Given the description of an element on the screen output the (x, y) to click on. 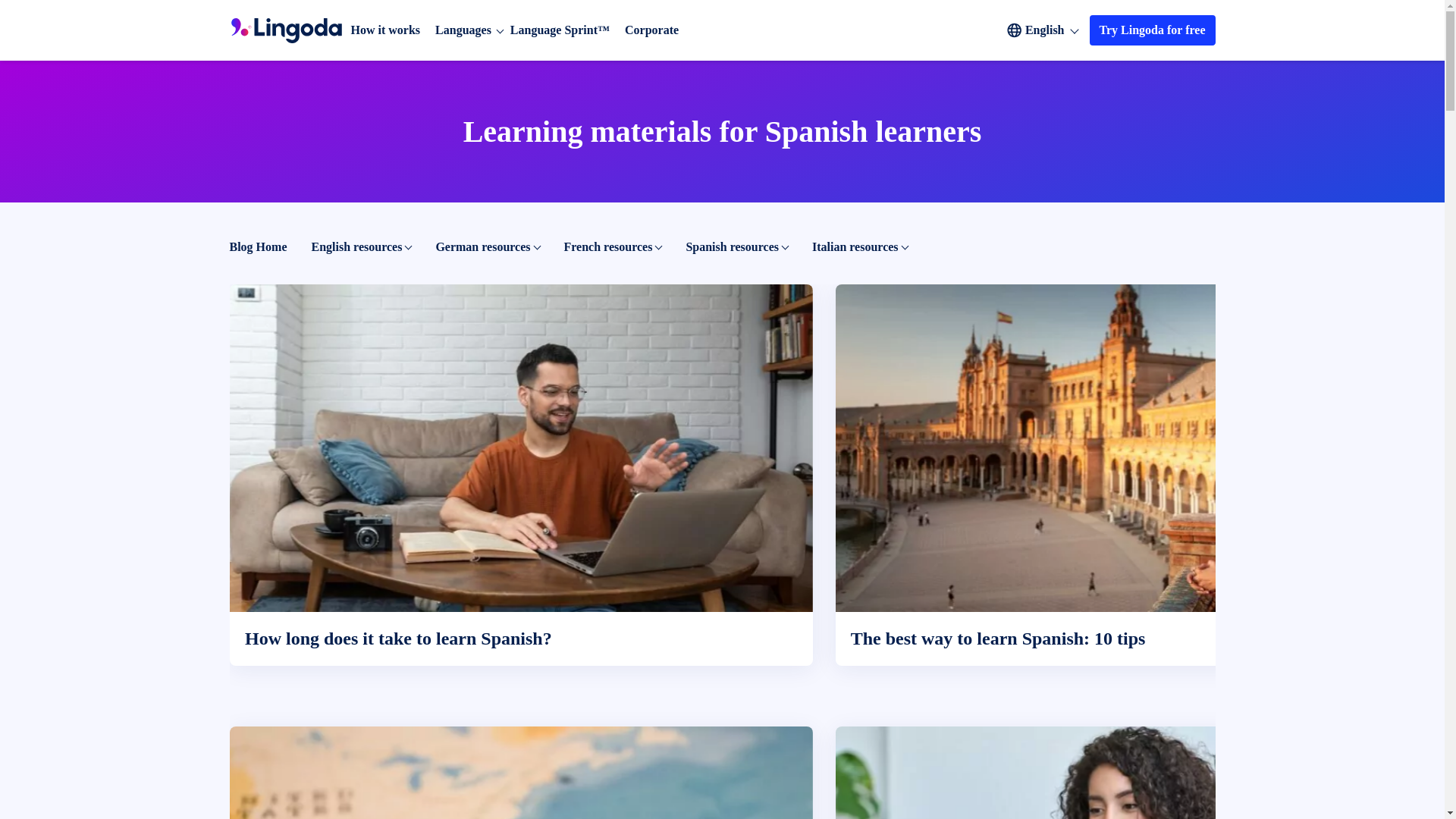
Languages (463, 29)
Corporate (651, 29)
Try Lingoda for free (1152, 30)
How it works (385, 29)
